Given the description of an element on the screen output the (x, y) to click on. 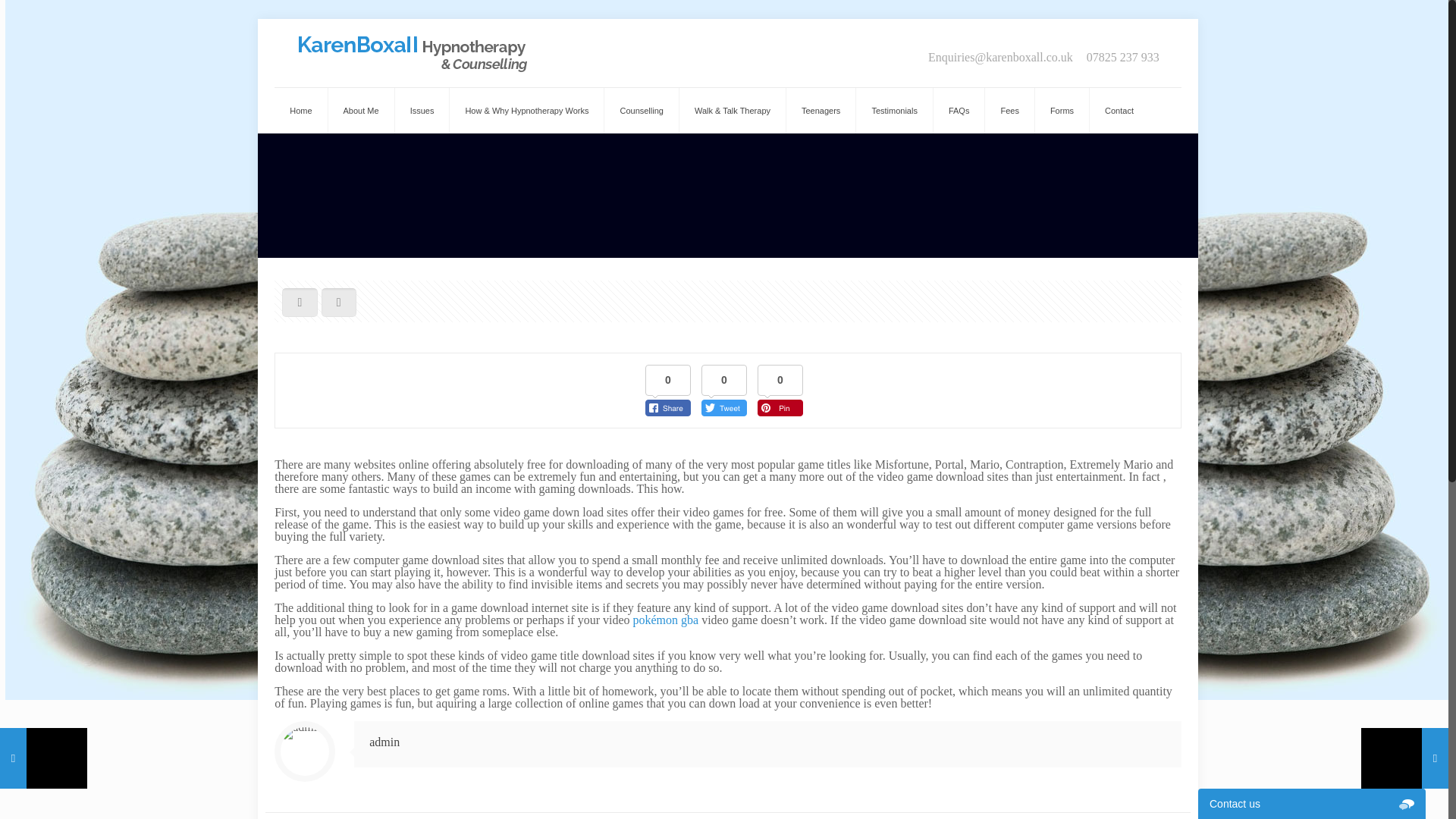
07825 237 933 (1122, 57)
Teenagers (821, 110)
Testimonials (894, 110)
Home (301, 110)
Issues (421, 110)
Contact (1118, 110)
Fees (1009, 110)
Counselling (641, 110)
Forms (1062, 110)
FAQs (959, 110)
